Given the description of an element on the screen output the (x, y) to click on. 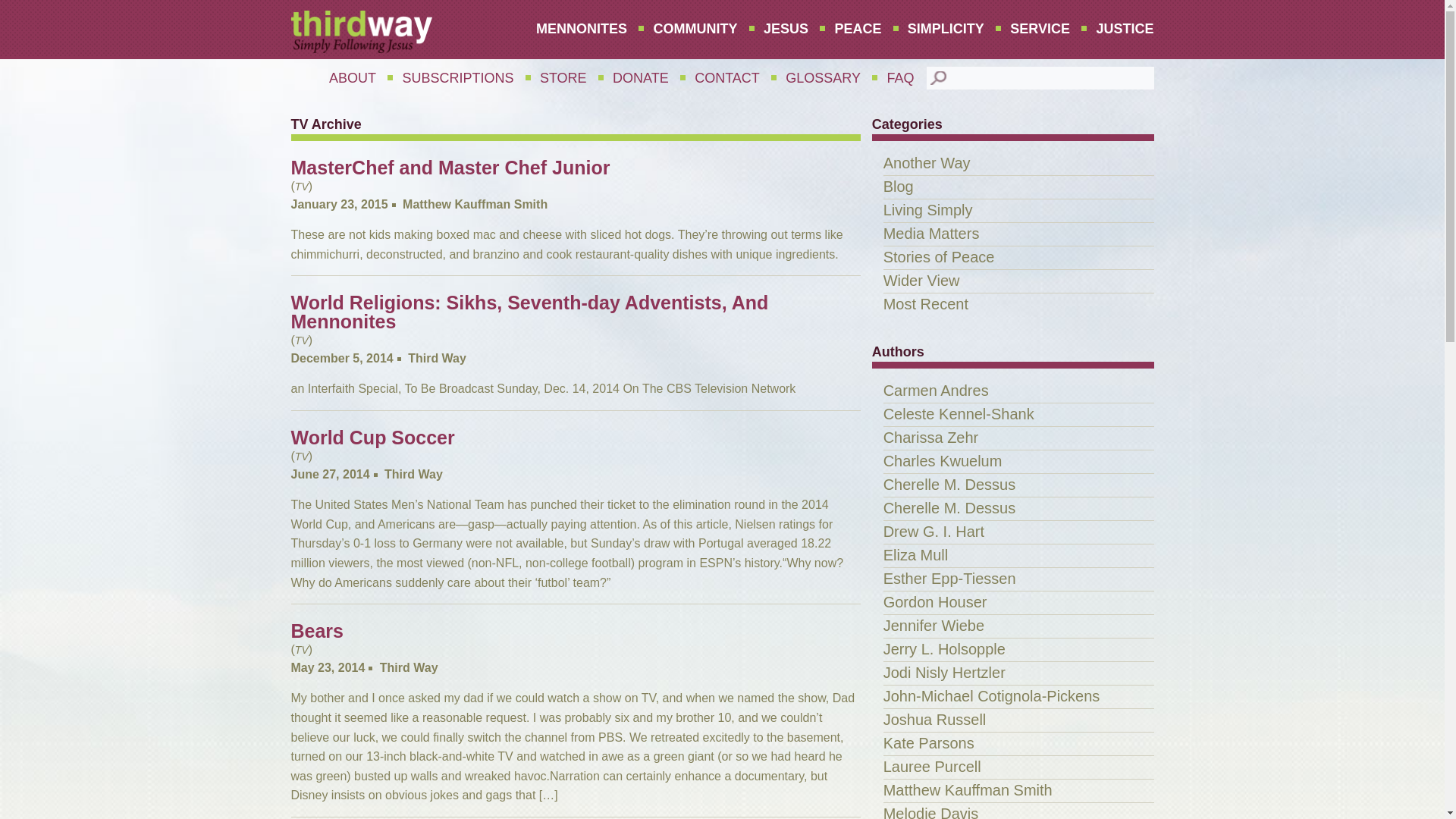
View all post filed under Carmen Andres (935, 390)
View all post filed under Cherelle M. Dessus (949, 507)
World Cup Soccer (575, 445)
TV (301, 186)
View all post filed under Esther Epp-Tiessen (949, 578)
View all post filed under Drew G. I. Hart (933, 531)
CONTACT (726, 78)
GLOSSARY (823, 78)
Third Way (436, 358)
SIMPLICITY (945, 28)
View all post filed under John-Michael Cotignola-Pickens (991, 695)
View all post filed under Cherelle M. Dessus (949, 484)
View all post filed under Charles Kwuelum (943, 460)
JESUS (785, 28)
View all post filed under Jennifer Wiebe (933, 625)
